Given the description of an element on the screen output the (x, y) to click on. 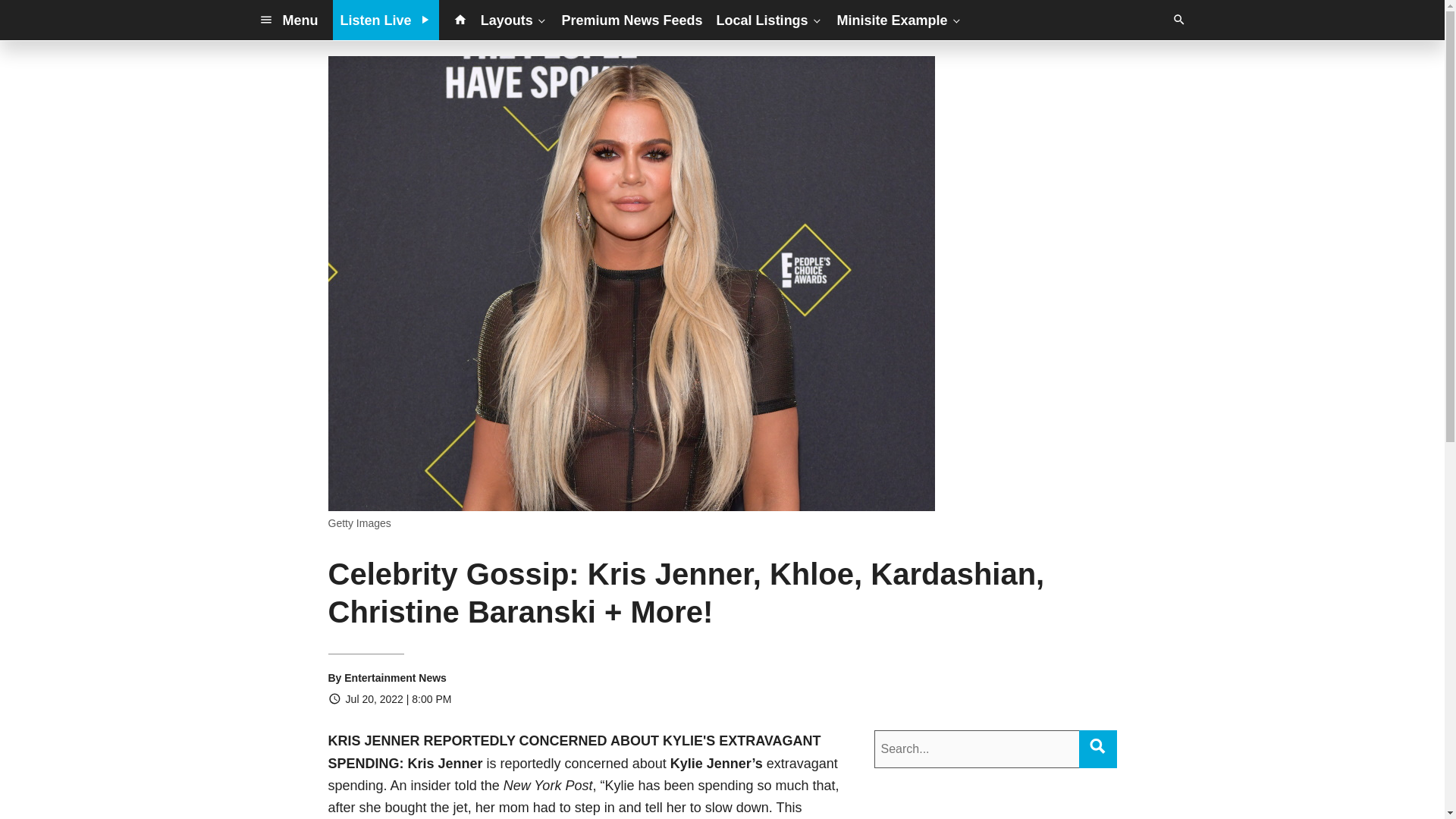
Listen Live (386, 20)
Search (1097, 745)
Layouts (514, 19)
Local Listings (769, 19)
Minisite Example (899, 19)
Menu (287, 19)
Premium News Feeds (632, 19)
